Given the description of an element on the screen output the (x, y) to click on. 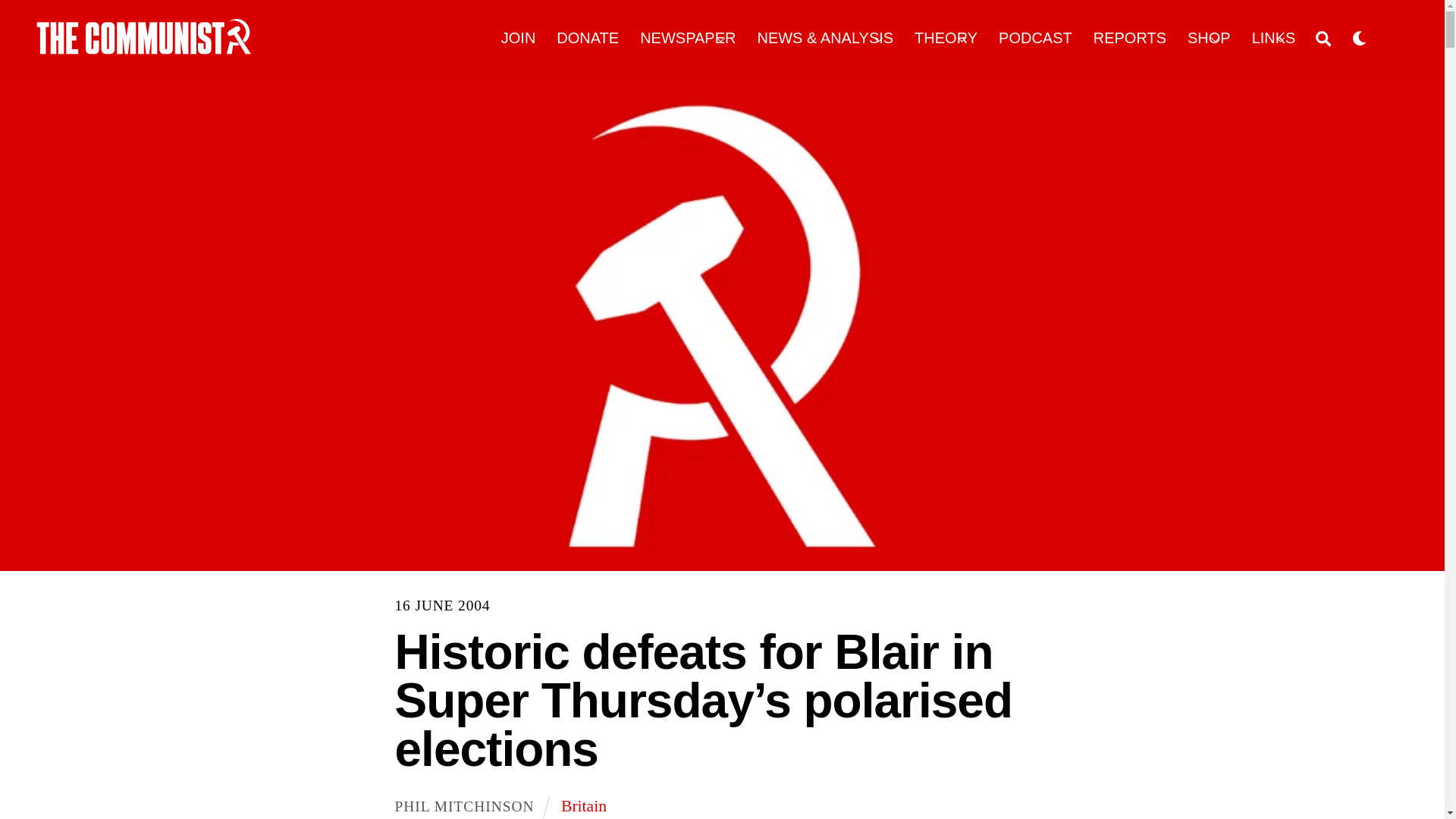
NEWSPAPER (688, 37)
The Communist (143, 49)
The Communist (143, 37)
DONATE (587, 37)
